Given the description of an element on the screen output the (x, y) to click on. 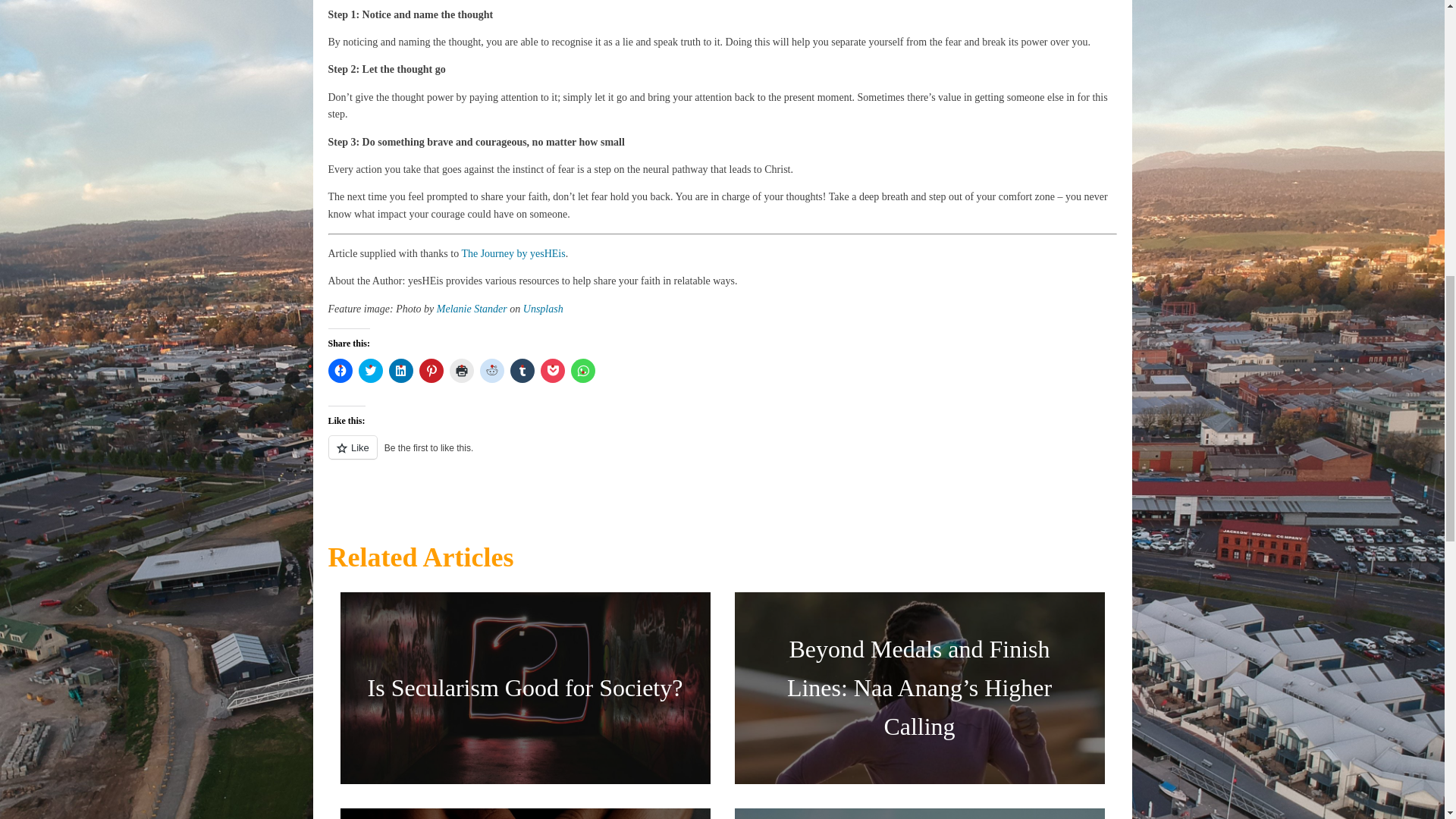
Click to share on Pinterest (430, 370)
Click to print (460, 370)
Click to share on WhatsApp (582, 370)
Click to share on Twitter (369, 370)
Click to share on Tumblr (521, 370)
Click to share on Reddit (491, 370)
Click to share on Facebook (339, 370)
Click to share on Pocket (552, 370)
Melanie Stander (471, 308)
The Journey by yesHEis (512, 253)
